Given the description of an element on the screen output the (x, y) to click on. 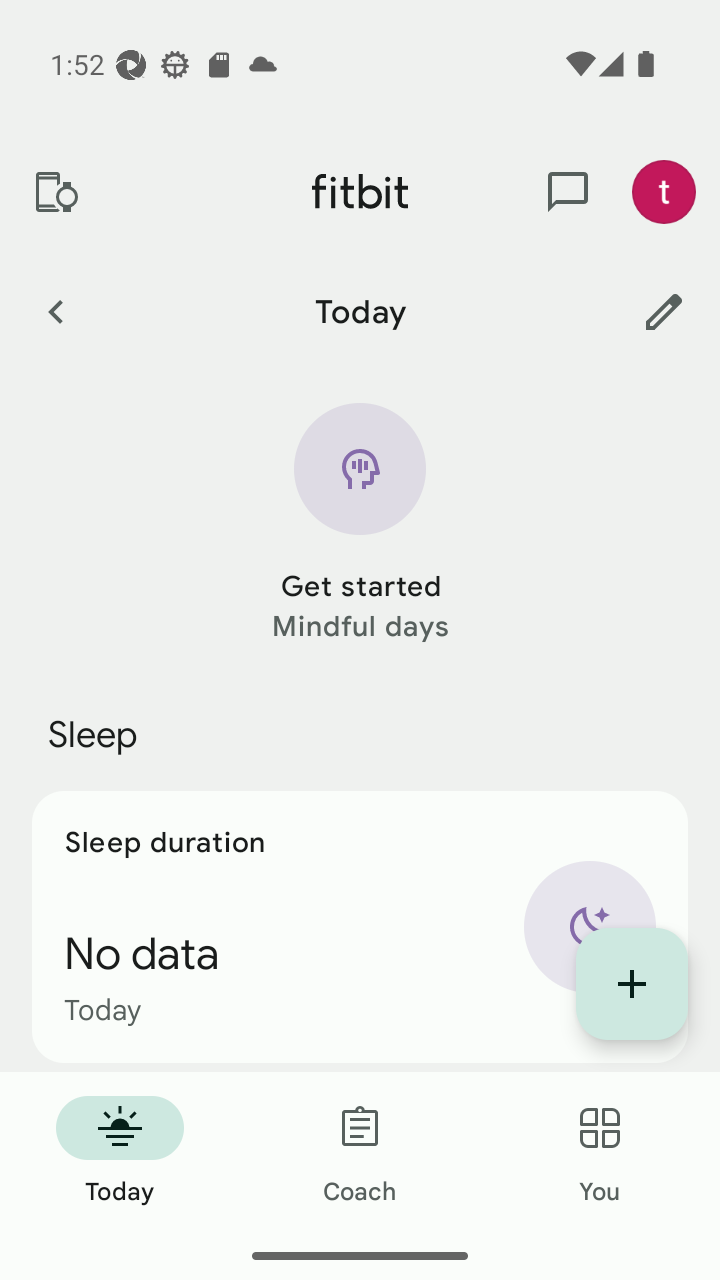
Devices and apps (55, 191)
messages and notifications (567, 191)
Previous Day (55, 311)
Customize (664, 311)
Mindfulness icon Get started Mindful days (360, 524)
Sleep duration No data Today Sleep static arc (359, 926)
Display list of quick log entries (632, 983)
Coach (359, 1151)
You (600, 1151)
